Given the description of an element on the screen output the (x, y) to click on. 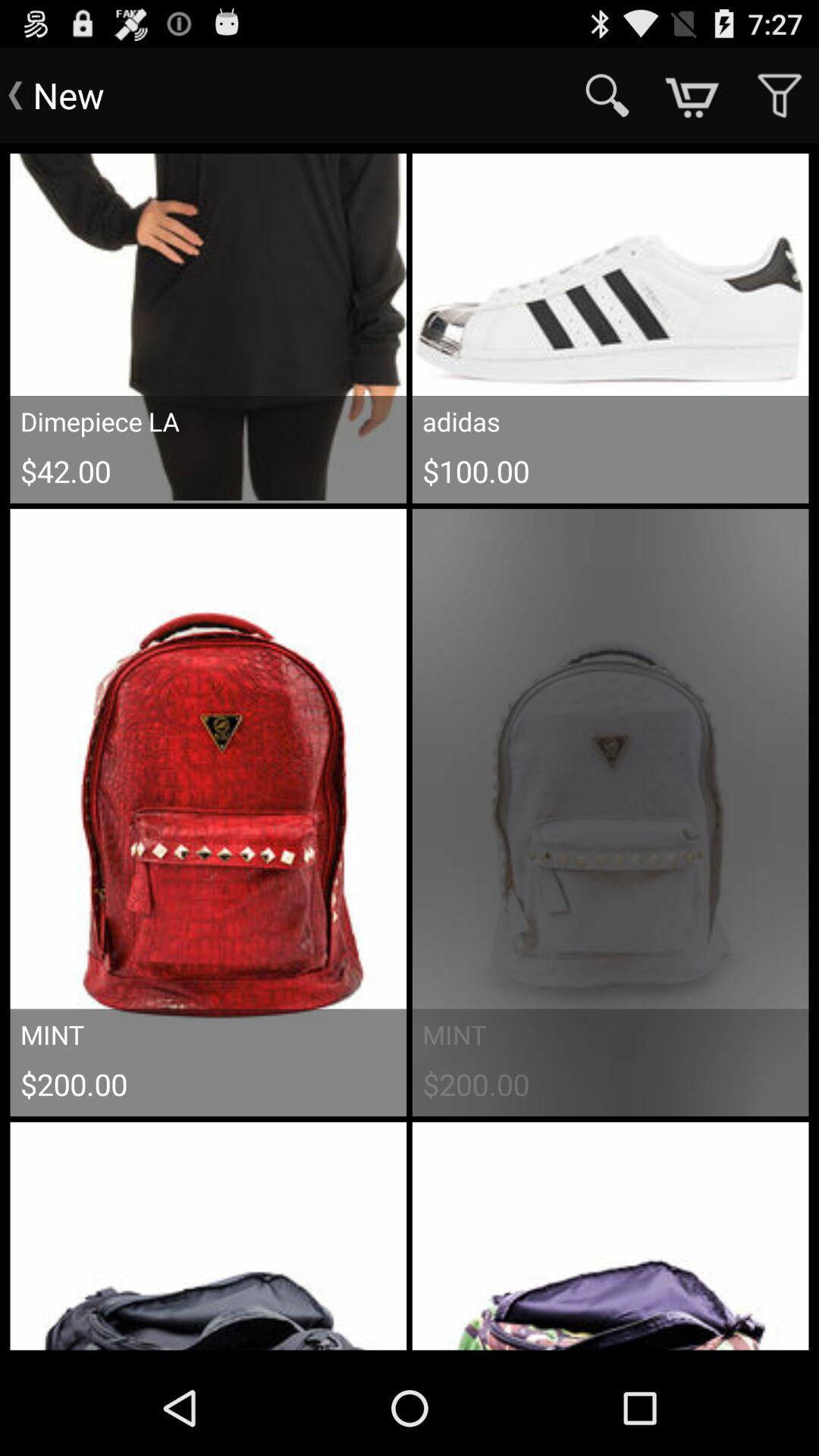
open the icon next to new app (607, 95)
